Given the description of an element on the screen output the (x, y) to click on. 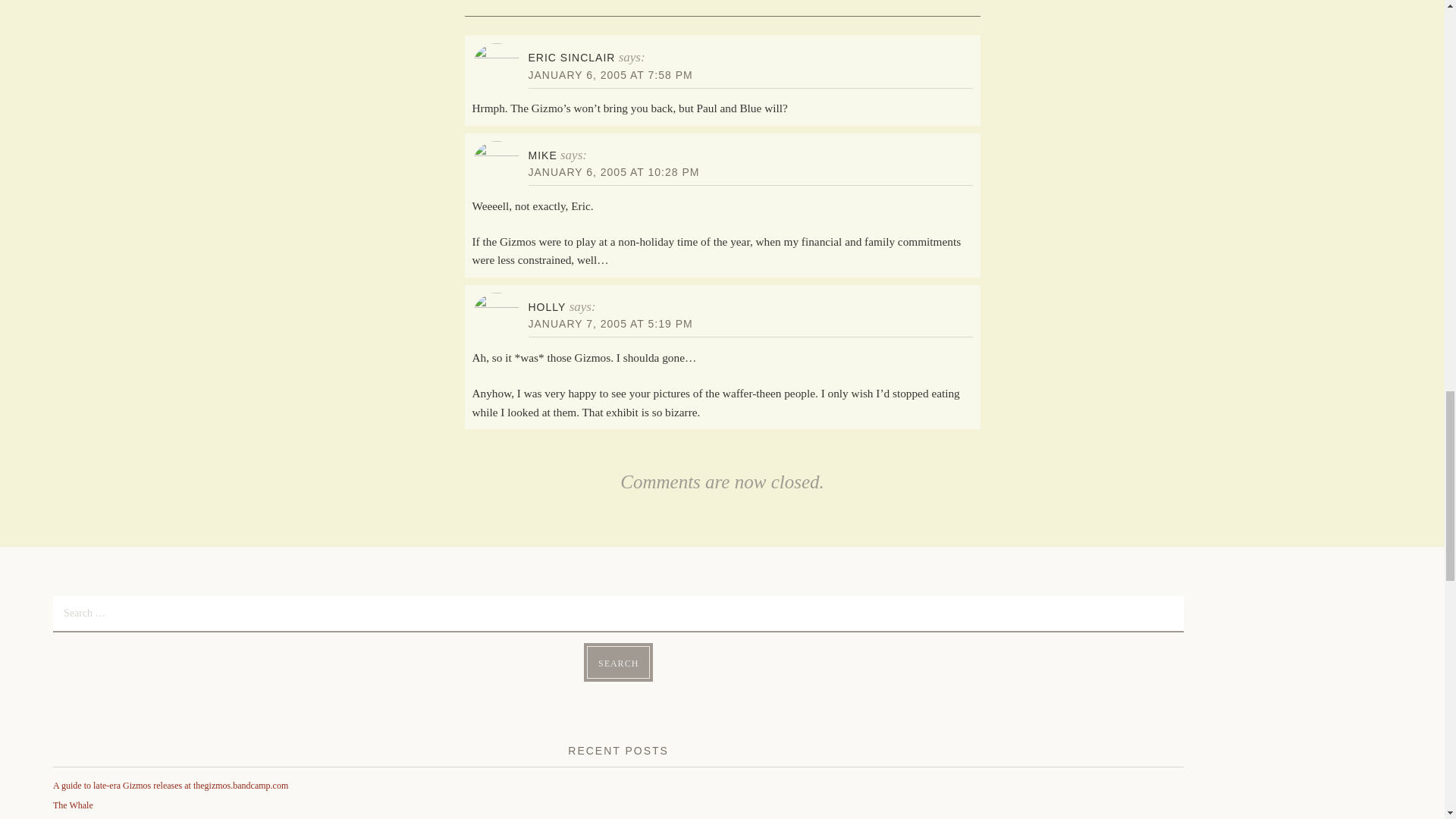
HOLLY (546, 306)
Search (617, 662)
ERIC SINCLAIR (570, 57)
JANUARY 6, 2005 AT 10:28 PM (612, 172)
The Whale (72, 805)
MIKE (541, 155)
JANUARY 6, 2005 AT 7:58 PM (610, 74)
JANUARY 7, 2005 AT 5:19 PM (610, 323)
Search (617, 662)
Search (617, 662)
